Given the description of an element on the screen output the (x, y) to click on. 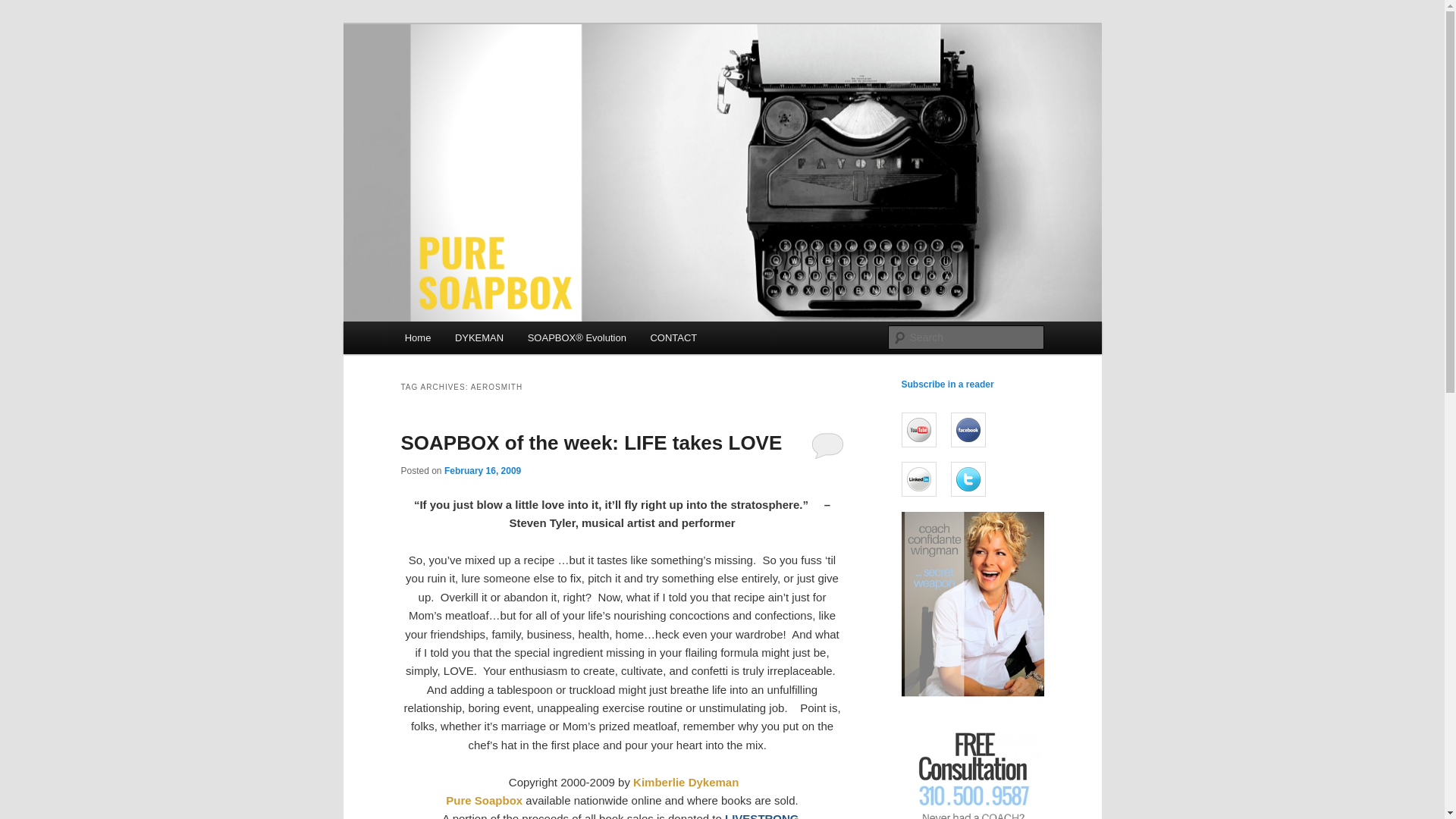
Home (417, 337)
DYKEMAN (478, 337)
youtube-32x32 (918, 429)
PURE SOAPBOX (491, 78)
linkedin-32x32 (918, 478)
February 16, 2009 (482, 470)
SOAPBOX of the week: LIFE takes LOVE (590, 442)
CONTACT (674, 337)
facebook-32x32 (967, 429)
Subscribe to my feed (946, 384)
Pure Soapbox (483, 799)
twitter-32x32 (967, 478)
Kimberlie Dykeman (685, 780)
Search (24, 8)
LIVESTRONG. (763, 815)
